Given the description of an element on the screen output the (x, y) to click on. 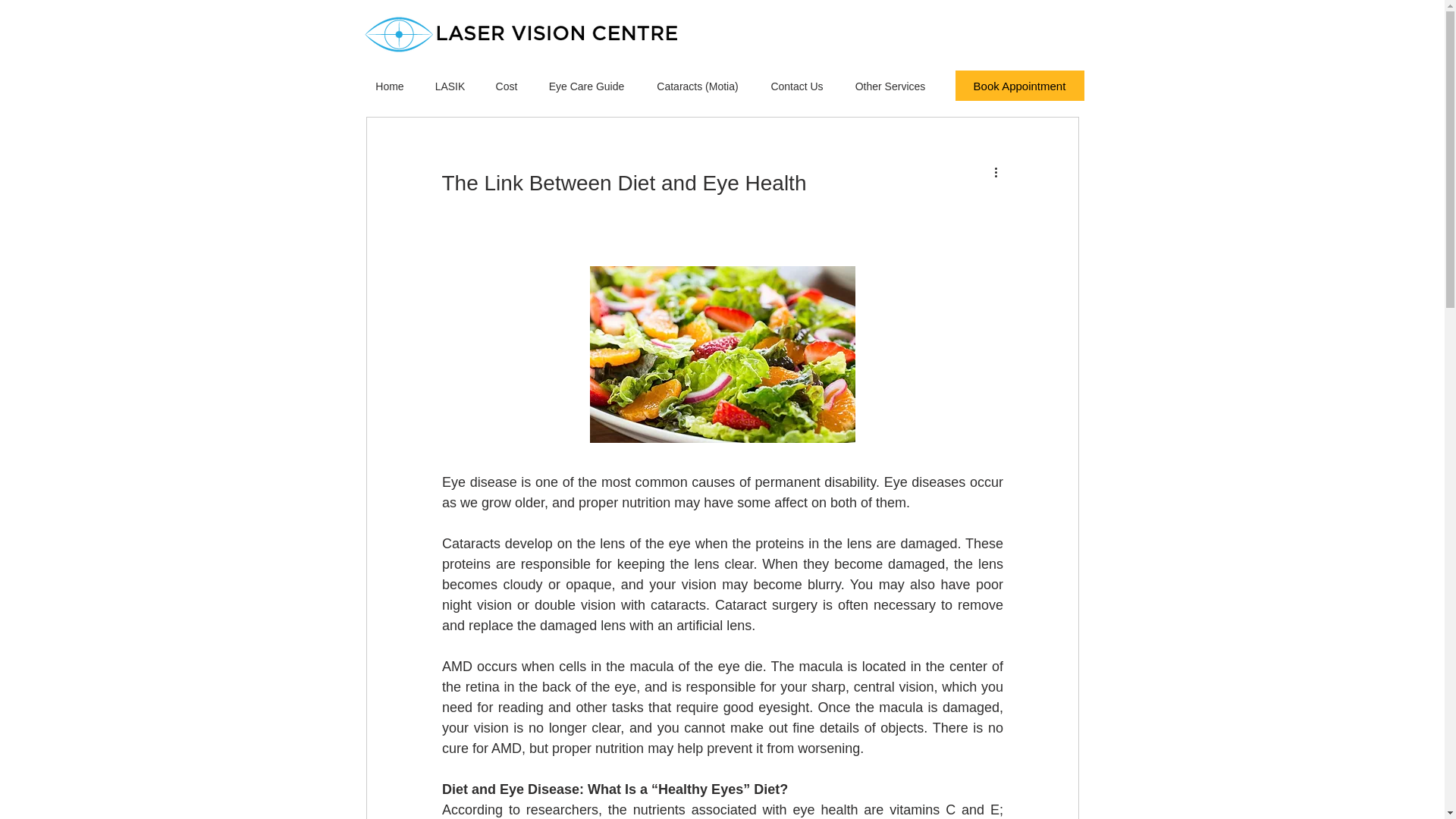
Eye Care Guide (586, 86)
LASIK (450, 86)
Cost (506, 86)
Contact Us (797, 86)
Home (389, 86)
Other Services (889, 86)
Book Appointment (1019, 85)
